Given the description of an element on the screen output the (x, y) to click on. 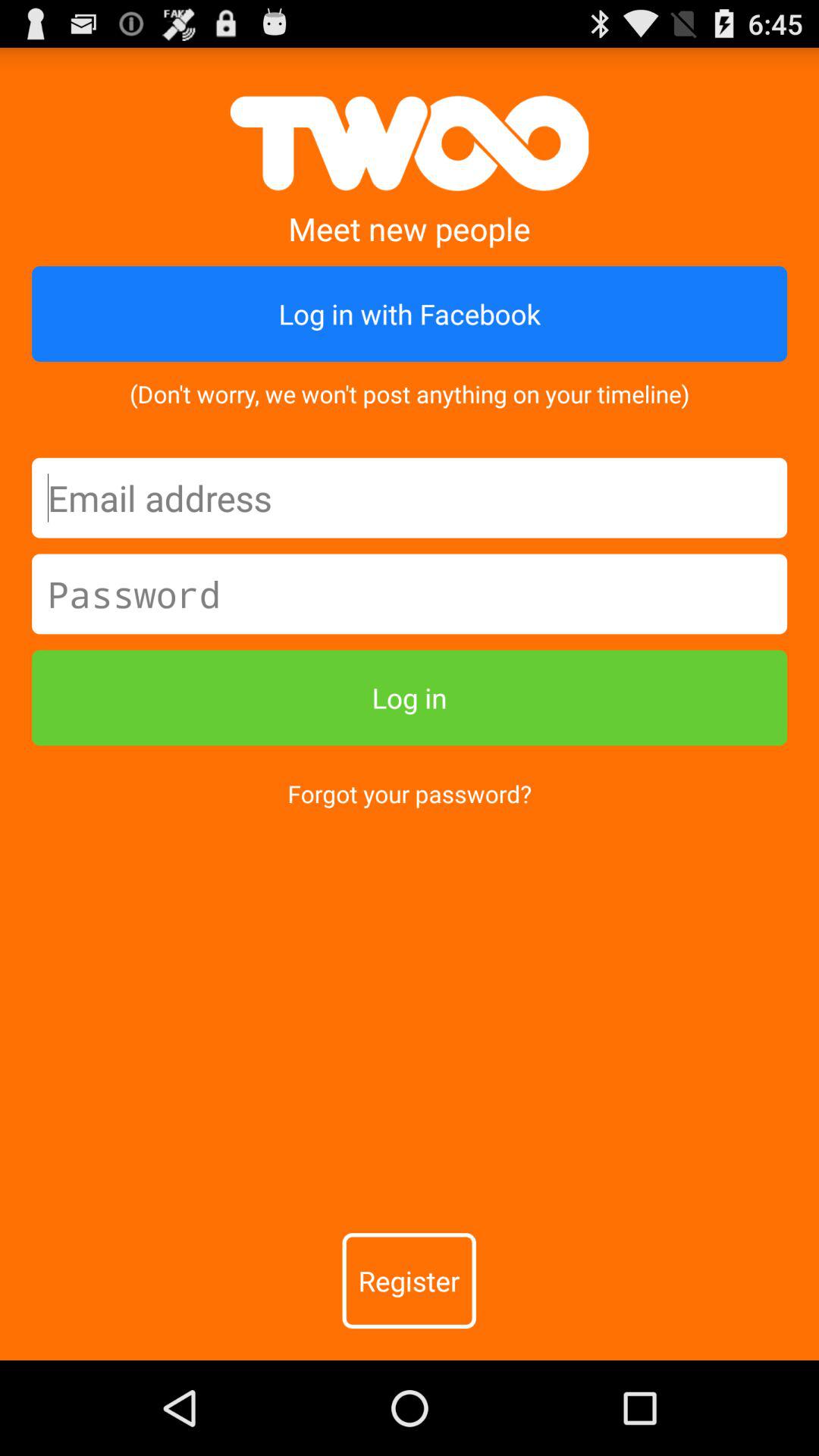
flip to forgot your password? (409, 793)
